Given the description of an element on the screen output the (x, y) to click on. 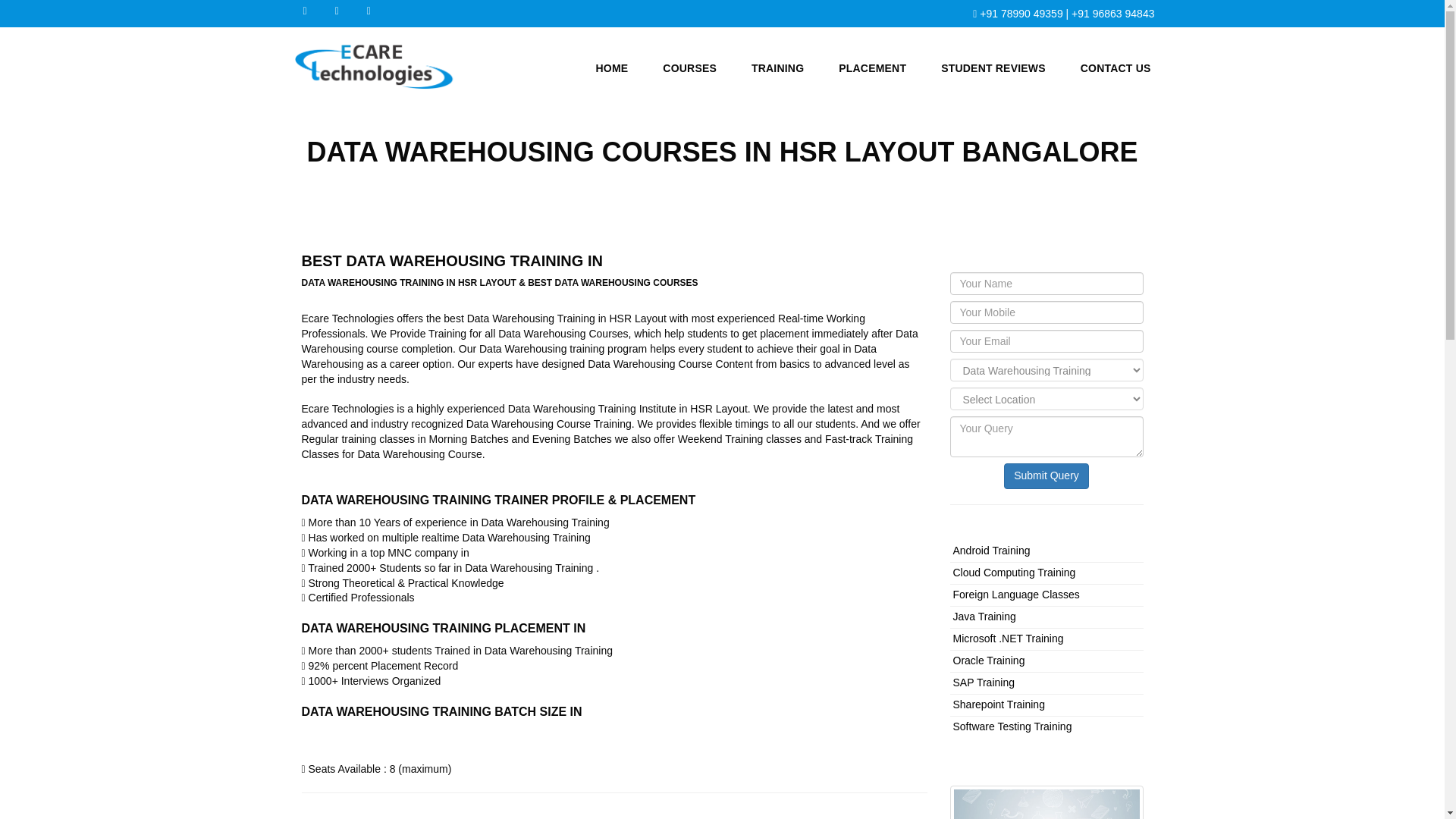
Microsoft .NET Training (1007, 638)
Data Warehousing Training  in Bangalore - Marathahalli (1045, 802)
Sharepoint Training Training in Bangalore (997, 704)
Android Training (990, 550)
Sharepoint Training (997, 704)
Microsoft .NET Training Training in Bangalore (1007, 638)
STUDENT REVIEWS (993, 65)
SAP Training Training in Bangalore (982, 682)
CONTACT US (1115, 65)
Android Training Training in Bangalore (990, 550)
Software Testing Training Training in Bangalore (1011, 726)
Foreign Language Classes (1015, 594)
PLACEMENT (872, 65)
Oracle Training Training in Bangalore (988, 660)
SAP Training (982, 682)
